Given the description of an element on the screen output the (x, y) to click on. 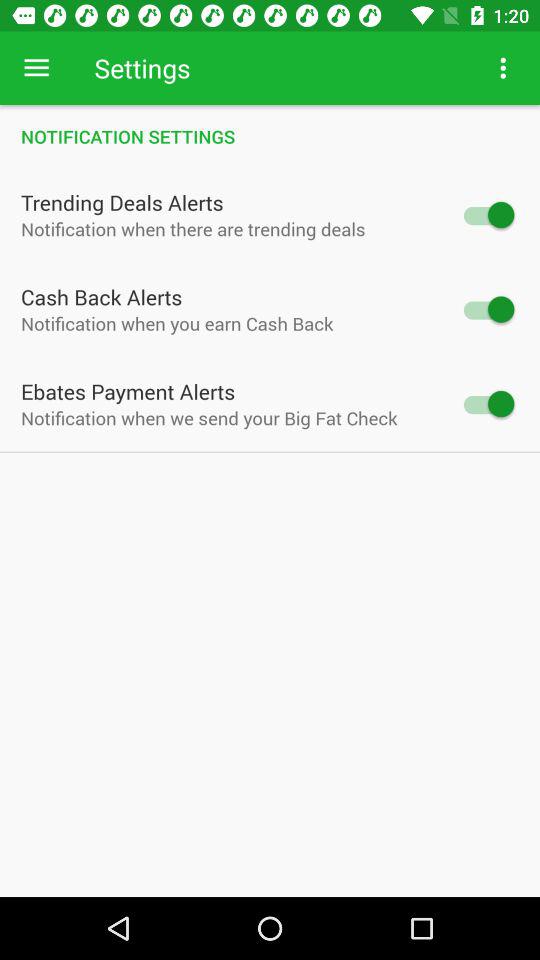
click icon above notification when we (128, 391)
